Given the description of an element on the screen output the (x, y) to click on. 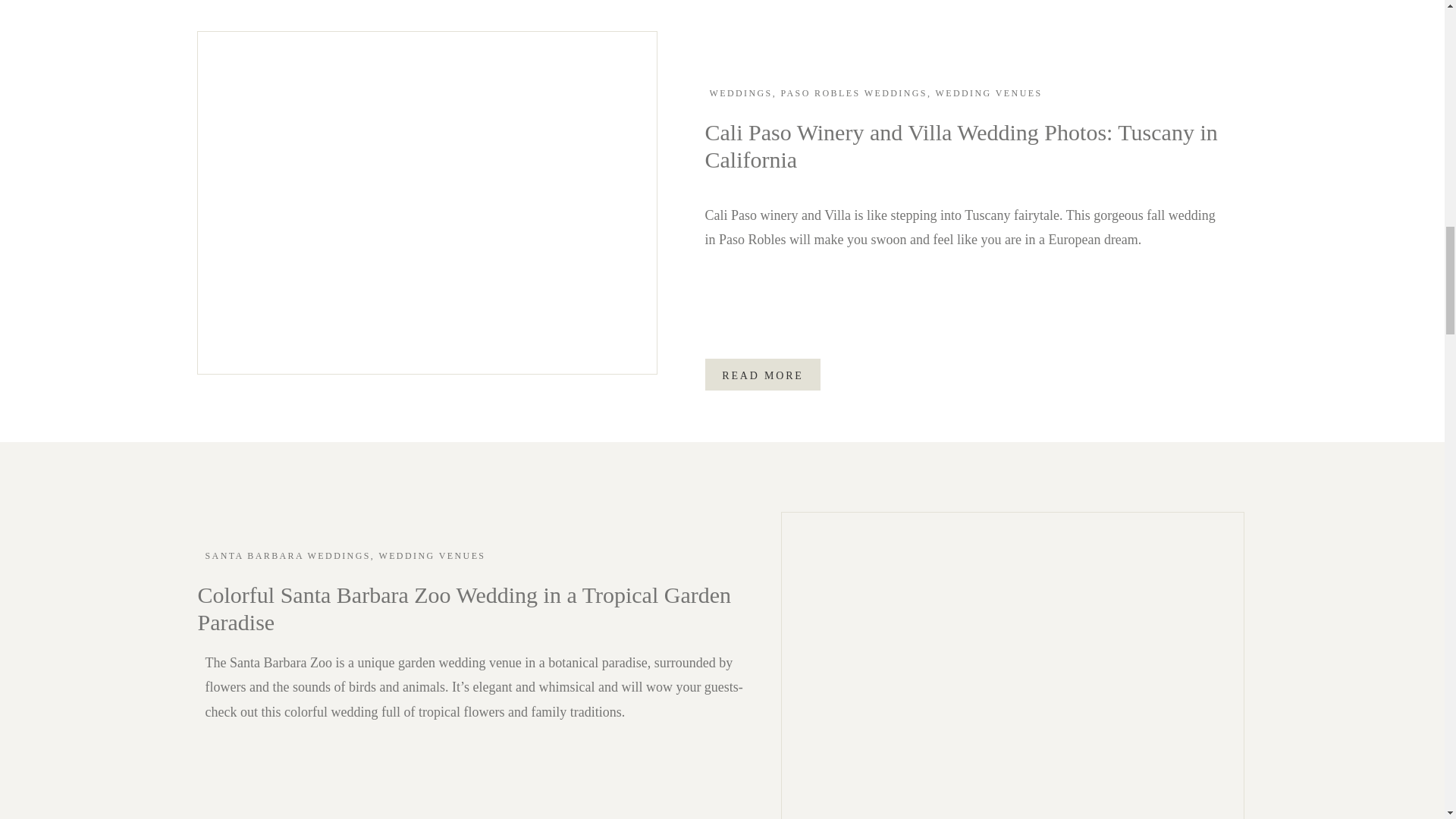
READ MORE (763, 375)
SANTA BARBARA WEDDINGS (287, 555)
PASO ROBLES WEDDINGS (853, 92)
WEDDINGS (741, 92)
WEDDING VENUES (988, 92)
WEDDING VENUES (431, 555)
